Given the description of an element on the screen output the (x, y) to click on. 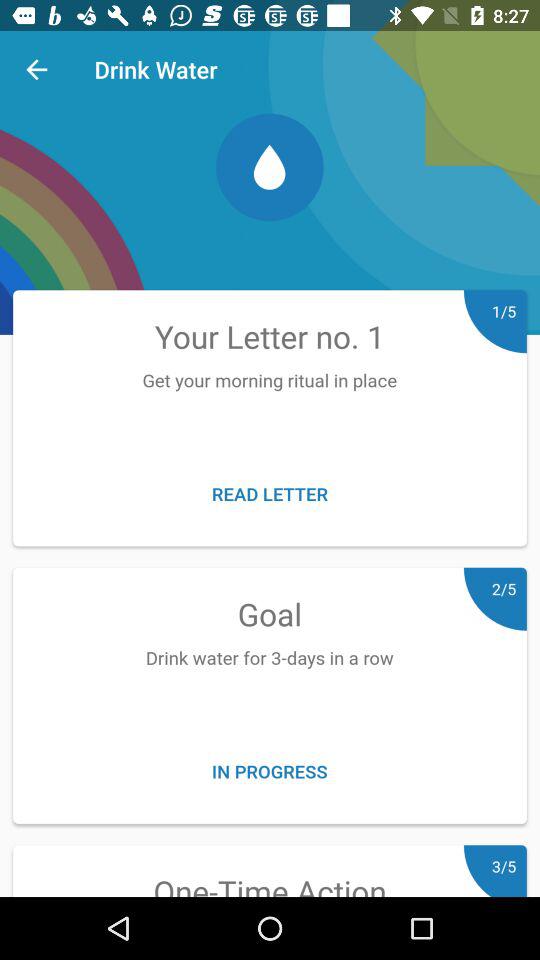
click in progress (269, 770)
